Given the description of an element on the screen output the (x, y) to click on. 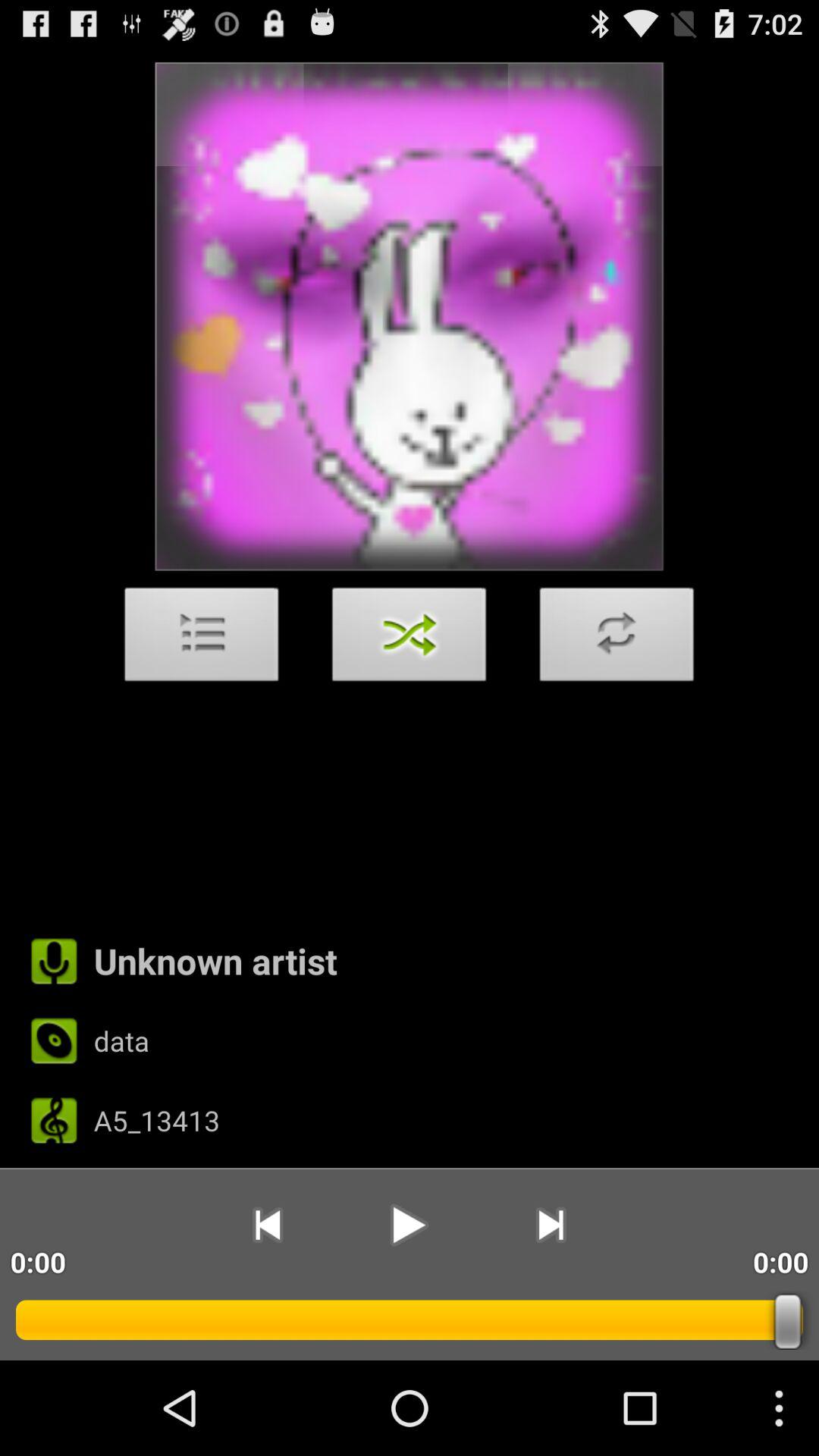
choose item above the unknown artist (201, 638)
